Given the description of an element on the screen output the (x, y) to click on. 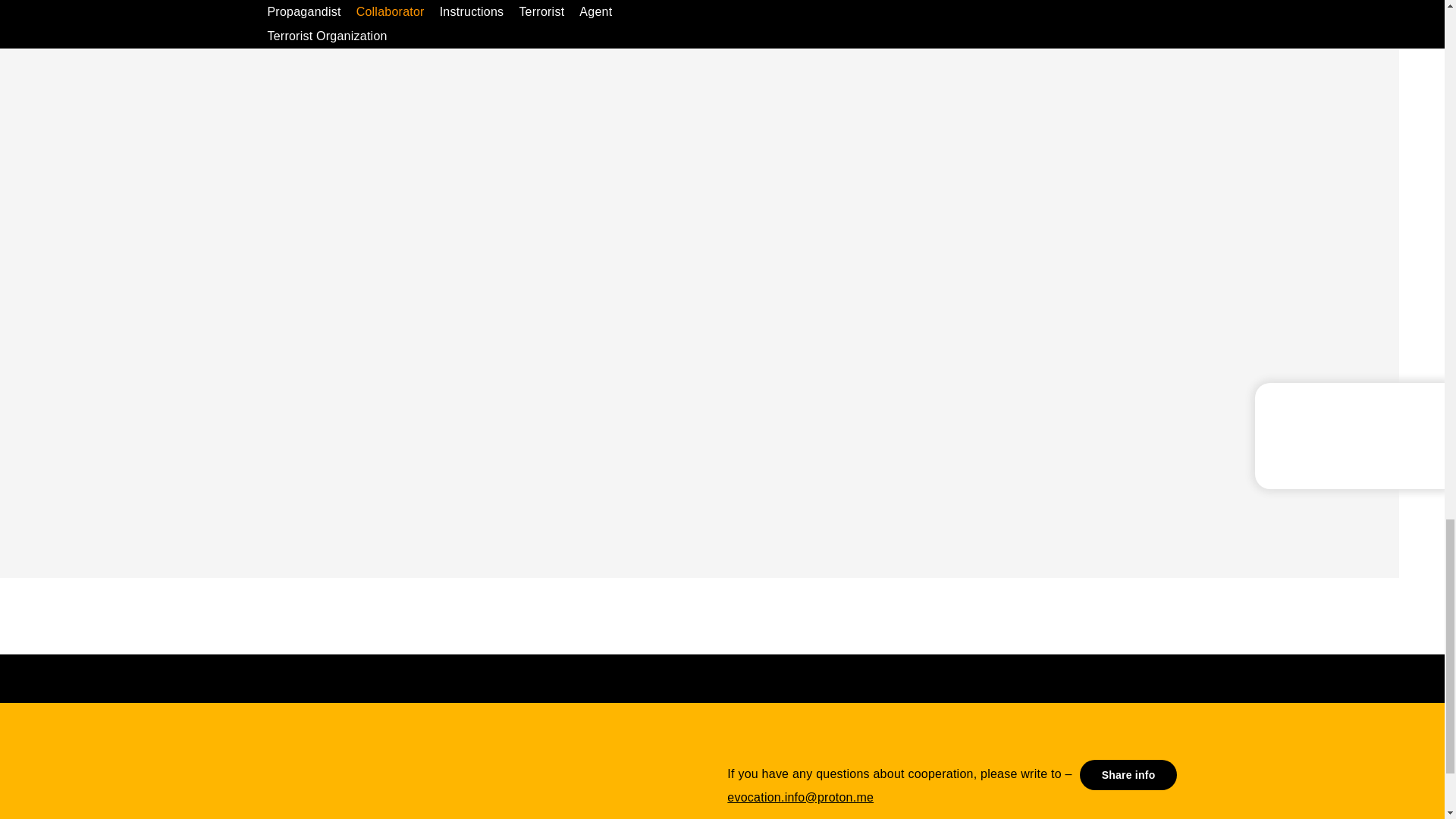
Share info (1128, 775)
